Given the description of an element on the screen output the (x, y) to click on. 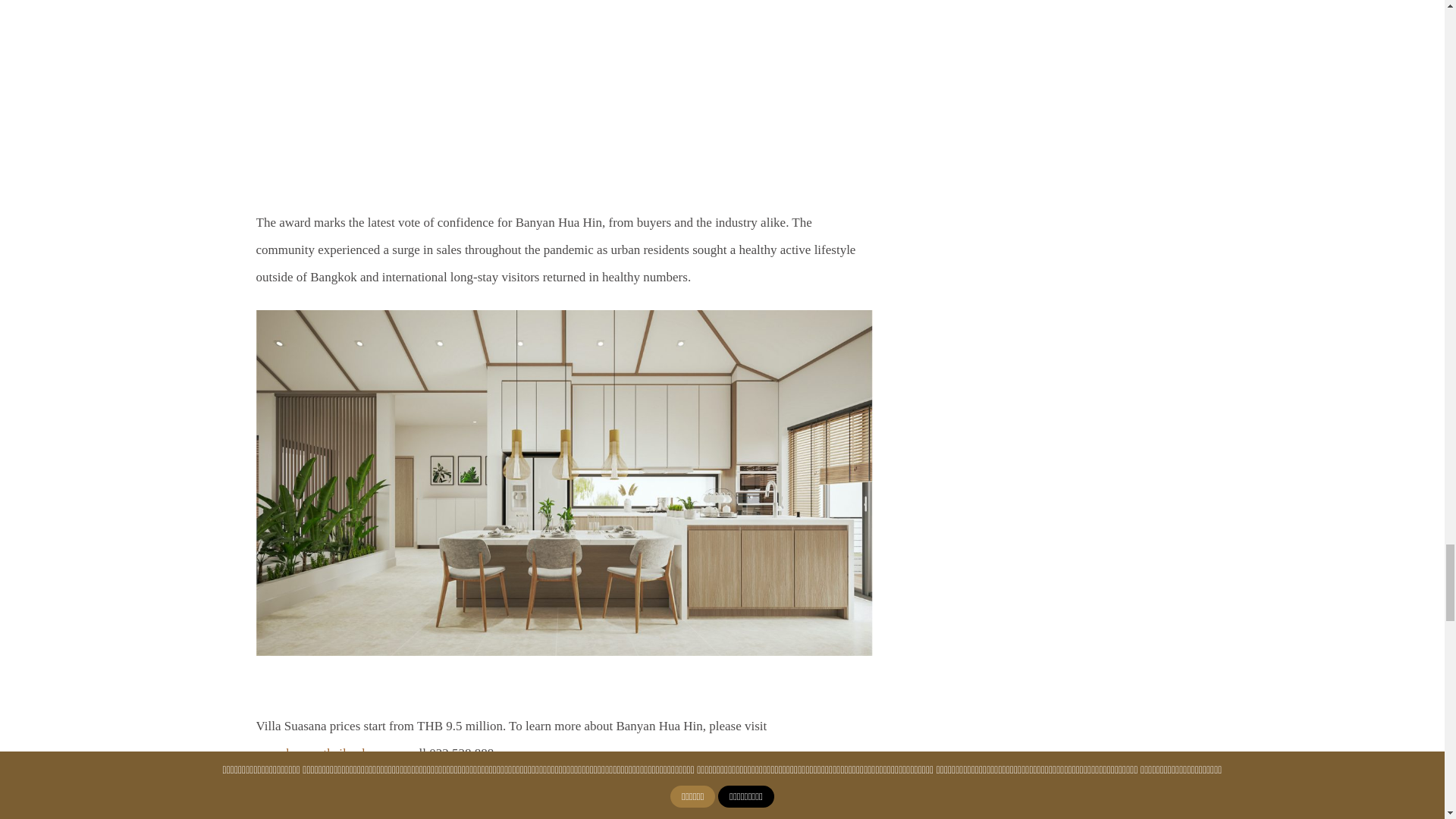
Line (370, 811)
Pinterest (391, 811)
Facebook (266, 811)
